Given the description of an element on the screen output the (x, y) to click on. 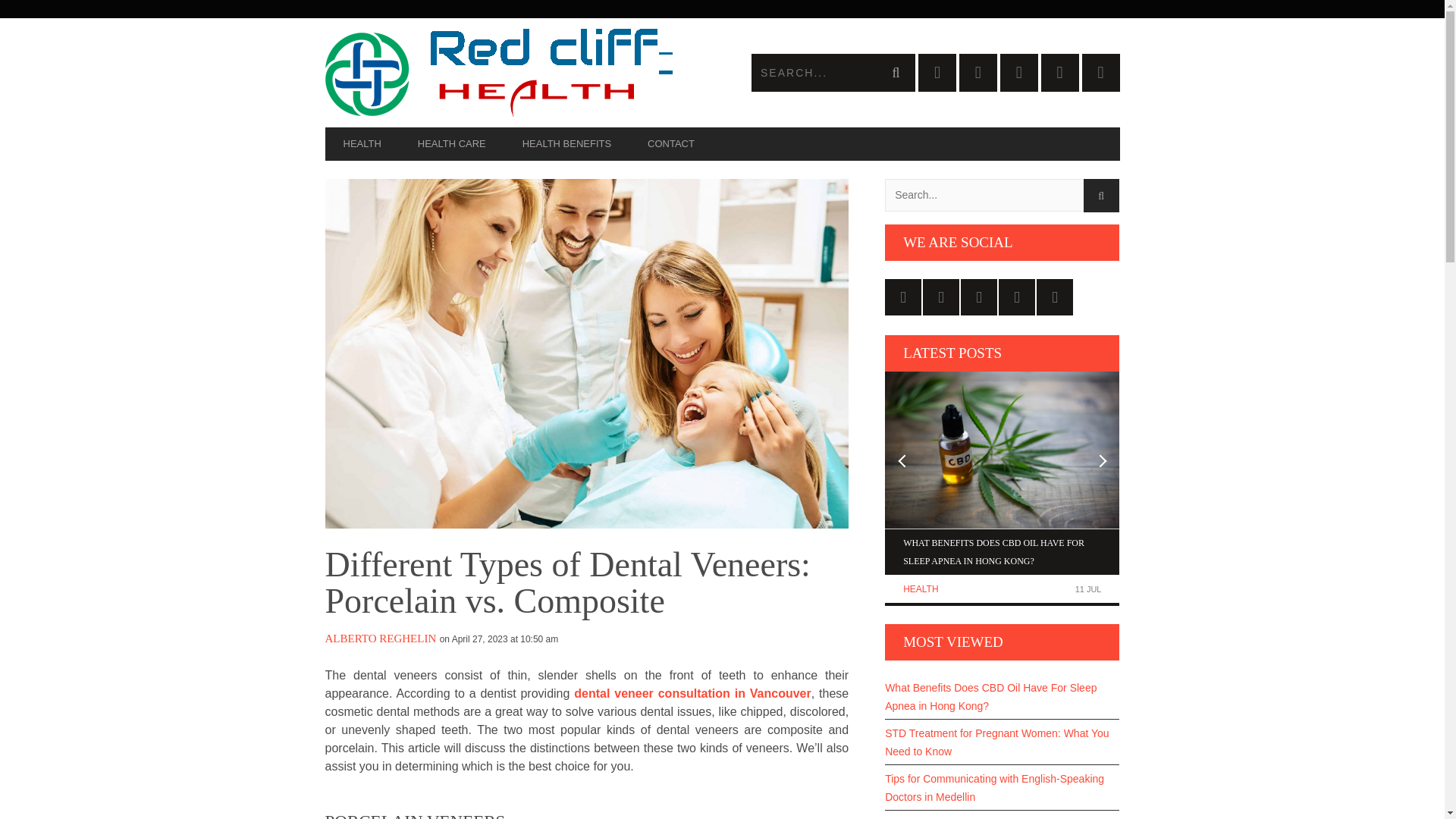
CONTACT (670, 144)
View all posts in Health (919, 588)
HEALTH CARE (450, 144)
HEALTH BENEFITS (565, 144)
HEALTH (919, 588)
Write your fitness ideas here (523, 72)
Posts by Alberto Reghelin (379, 638)
HEALTH (361, 144)
ALBERTO REGHELIN (379, 638)
STD Treatment for Pregnant Women: What You Need to Know (1002, 741)
dental veneer consultation in Vancouver (691, 693)
